Given the description of an element on the screen output the (x, y) to click on. 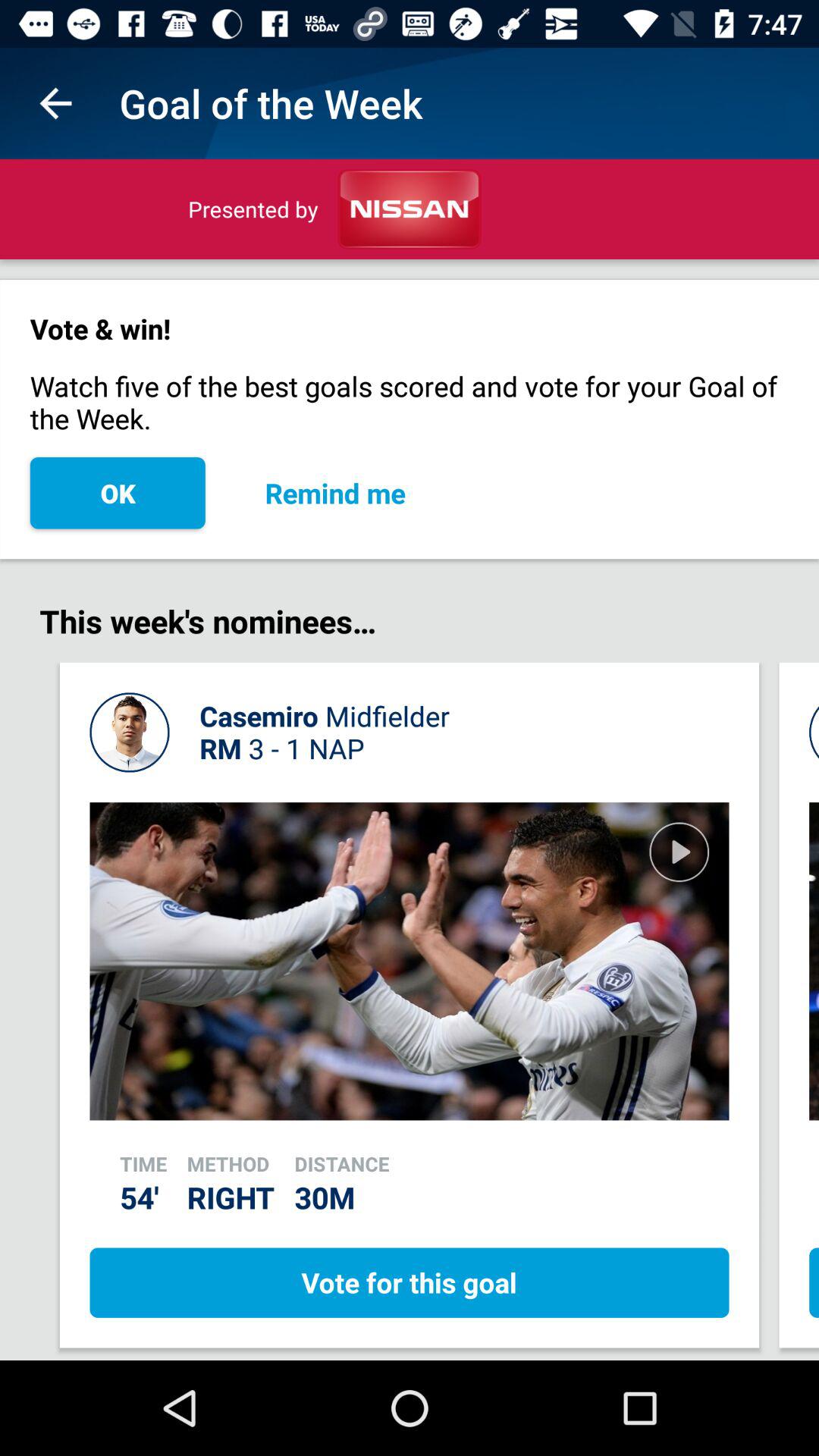
go back (55, 103)
